Given the description of an element on the screen output the (x, y) to click on. 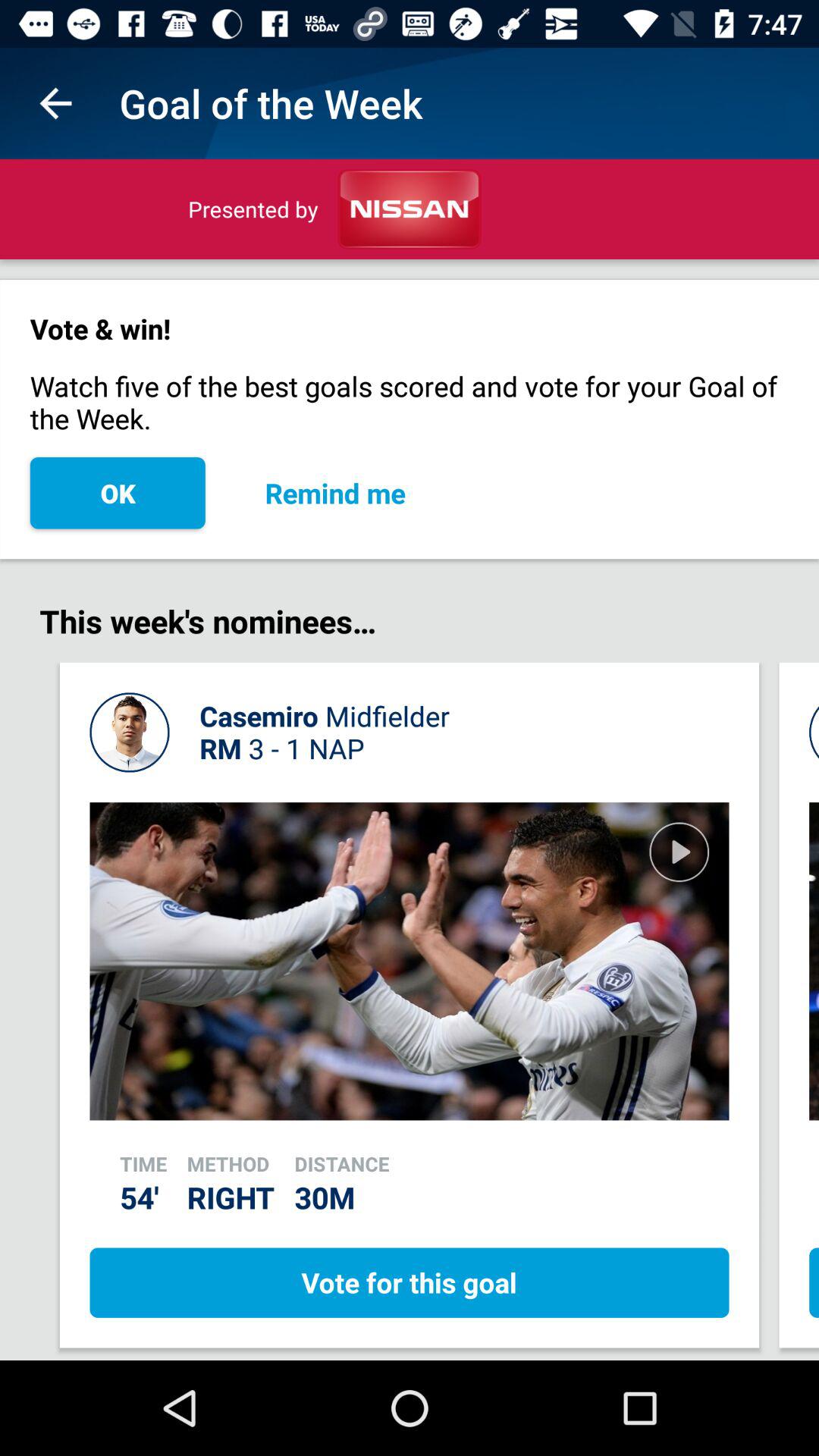
go back (55, 103)
